Given the description of an element on the screen output the (x, y) to click on. 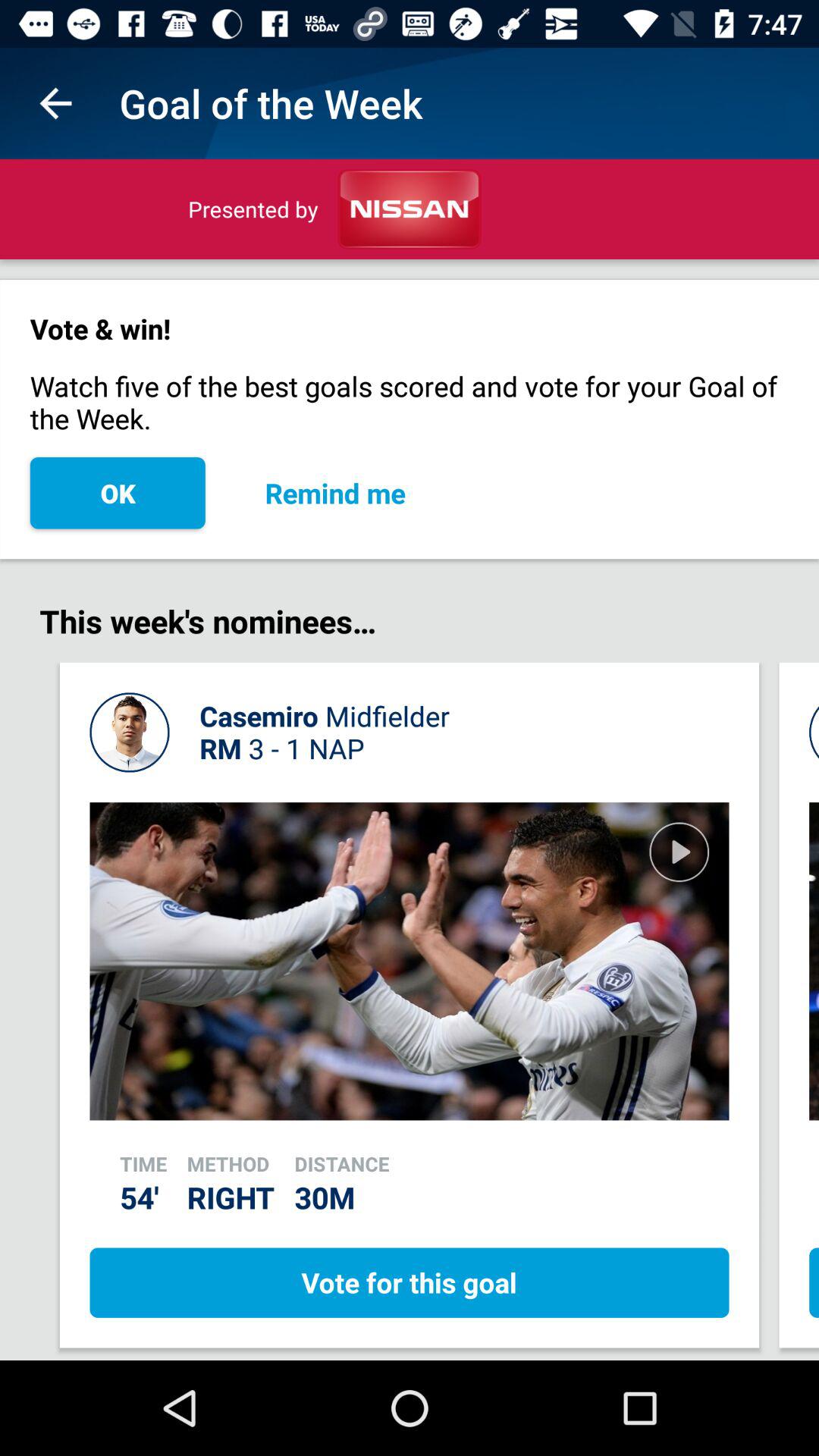
go back (55, 103)
